Given the description of an element on the screen output the (x, y) to click on. 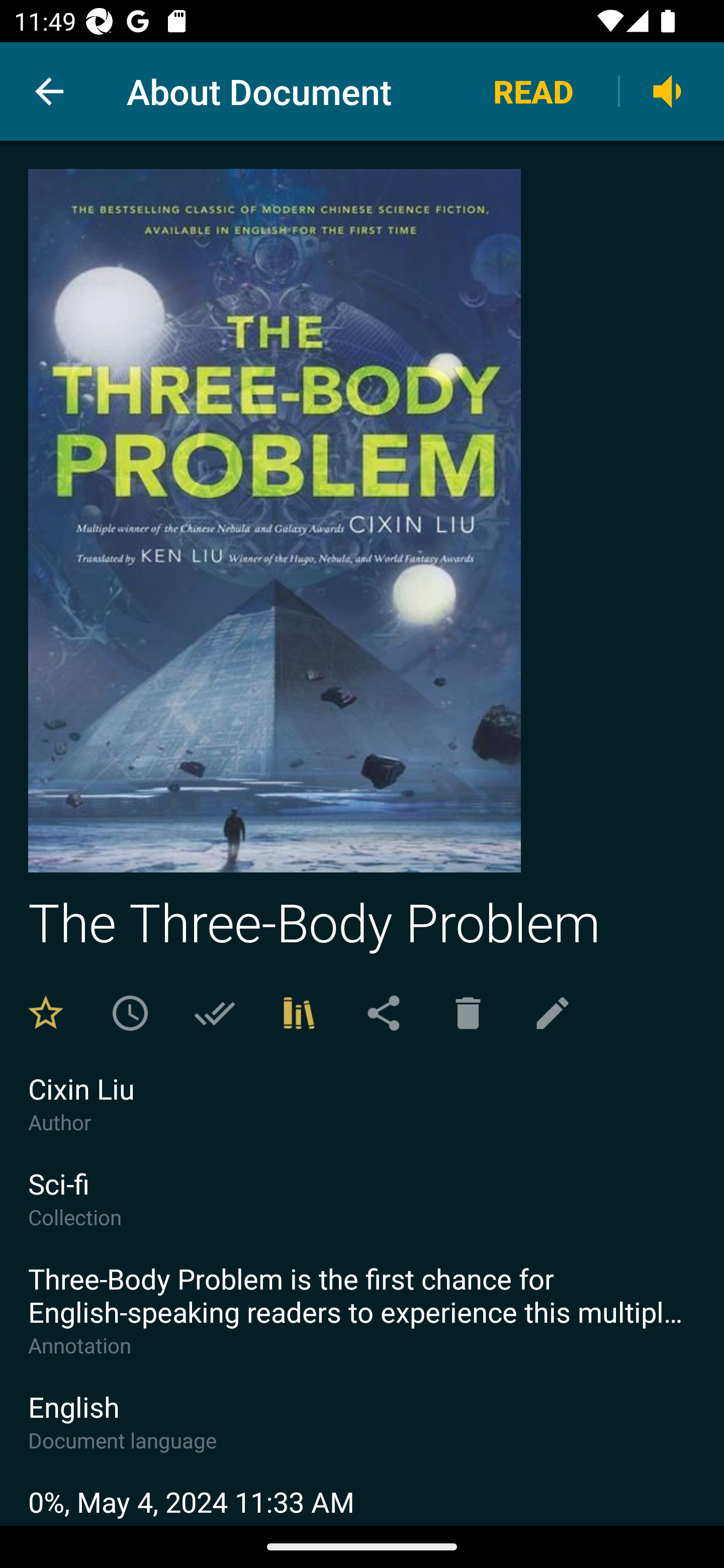
Back (49, 91)
READ (533, 90)
Remove from Favorites (45, 1012)
Add to To read (130, 1012)
Add to Have read (214, 1012)
Collections (1) (299, 1012)
Share file (383, 1012)
Move to Trash (467, 1012)
Edit (552, 1012)
Cixin Liu Author (362, 1117)
Sci-fi Collection (362, 1212)
English Document language (362, 1435)
